Given the description of an element on the screen output the (x, y) to click on. 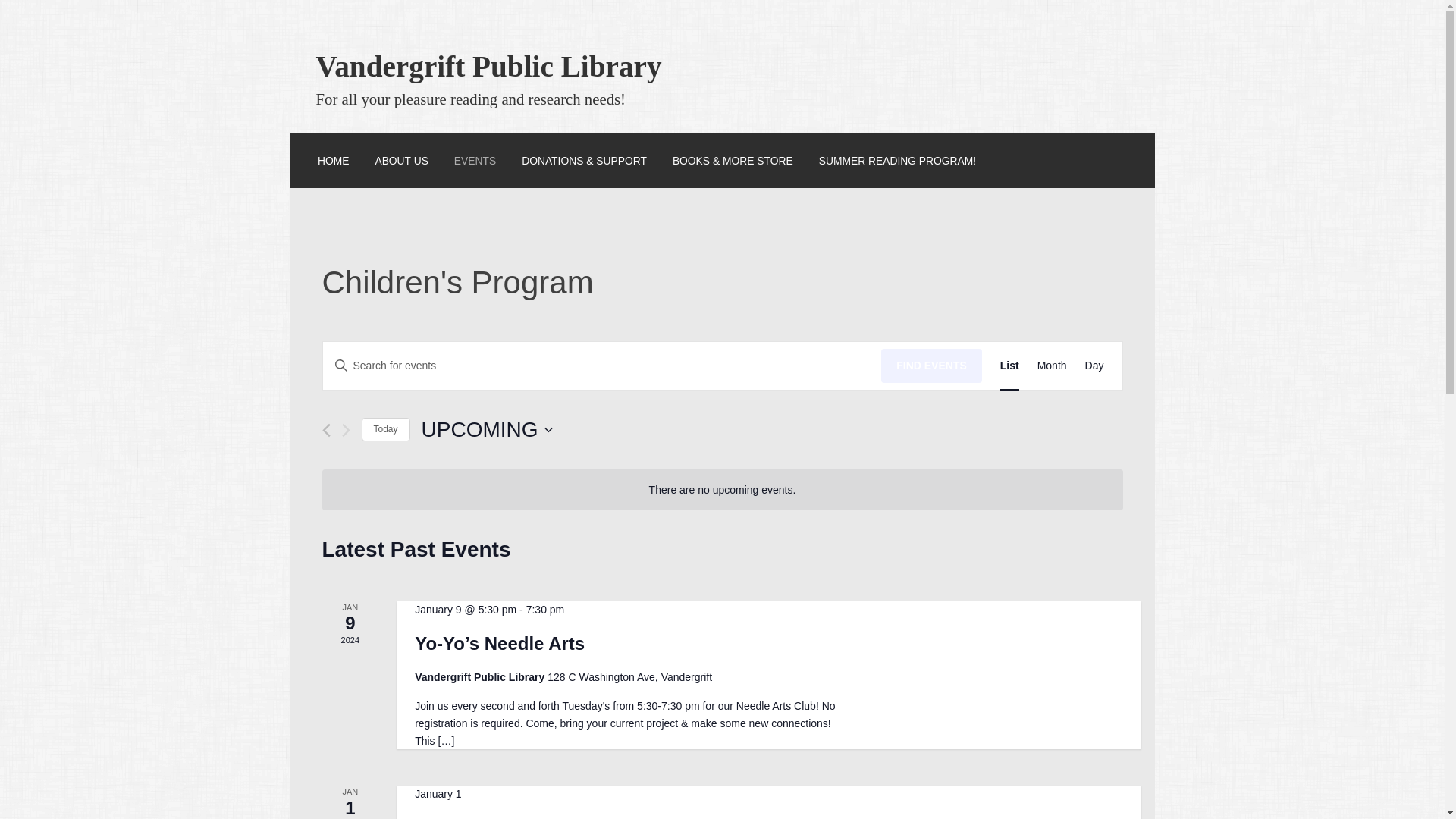
SUMMER READING PROGRAM! (896, 160)
Click to select today's date (385, 429)
HOME (333, 160)
Vandergrift Public Library (488, 65)
EVENTS (475, 160)
Today (385, 429)
FIND EVENTS (930, 365)
Vandergrift Public Library (488, 65)
ABOUT US (401, 160)
